Given the description of an element on the screen output the (x, y) to click on. 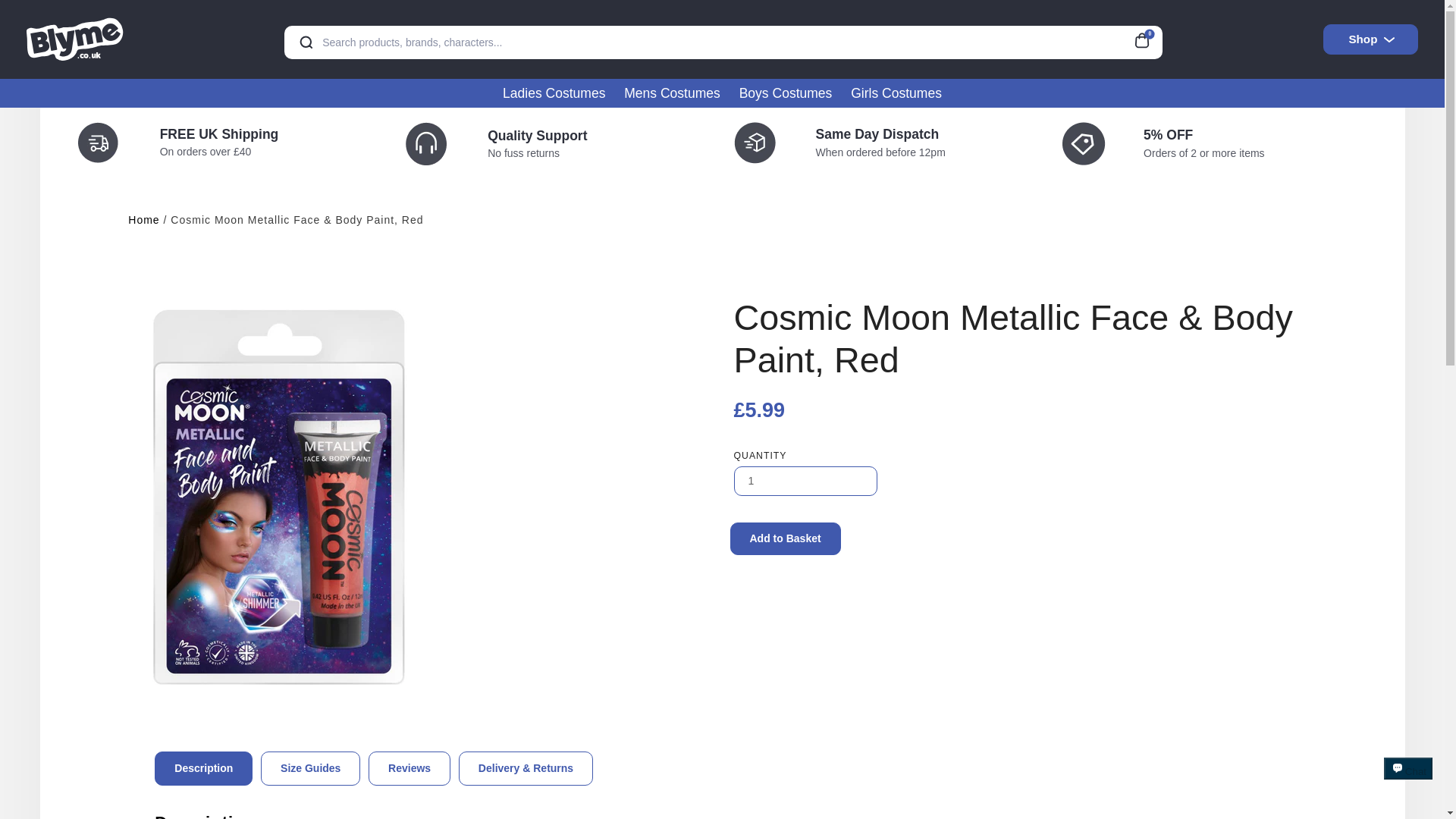
1 (805, 481)
View your Basket (1147, 38)
Home (143, 220)
0 (1147, 38)
0 (1147, 38)
